Given the description of an element on the screen output the (x, y) to click on. 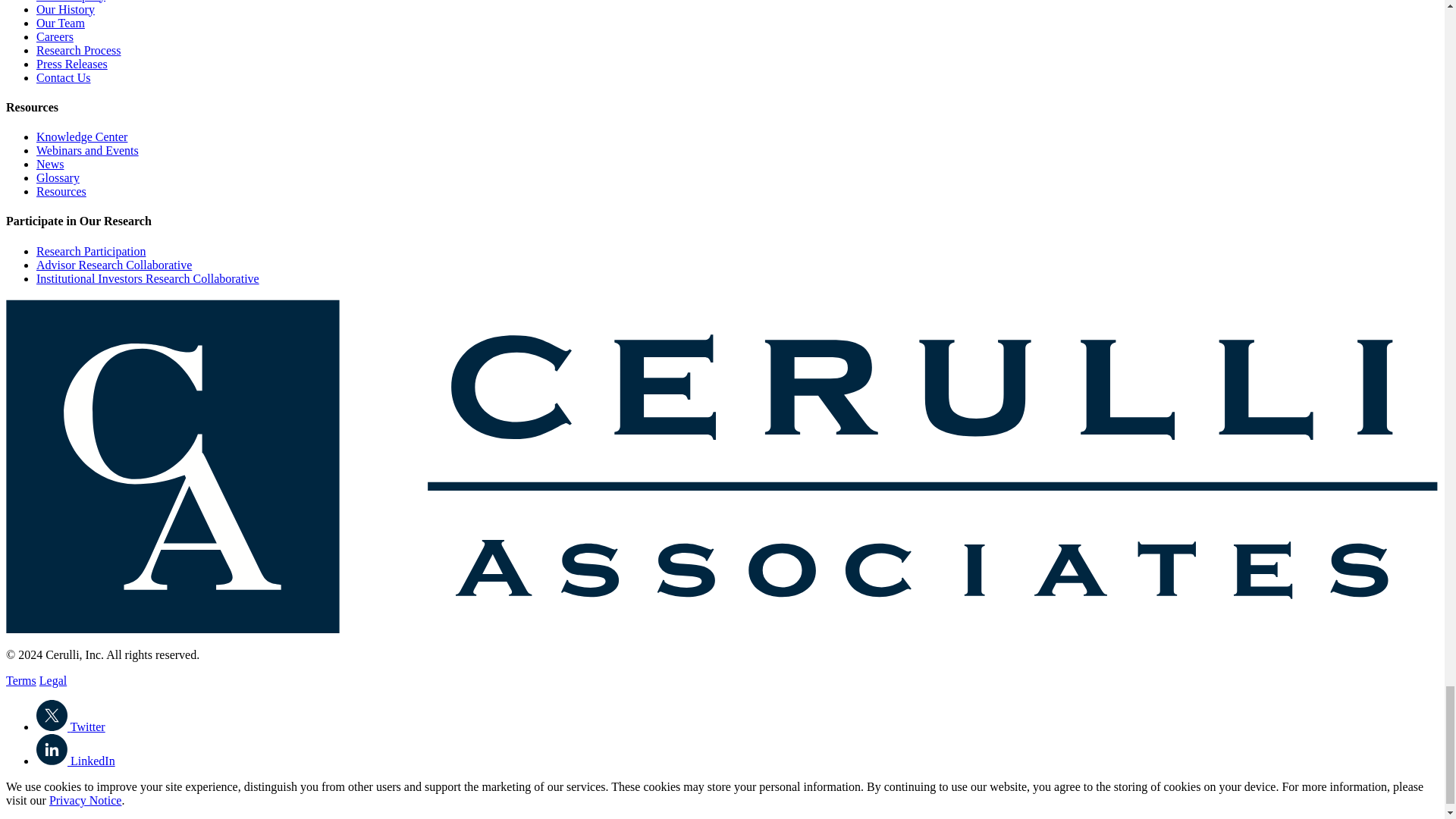
logo-linkedin Created with Sketch. (51, 748)
